Given the description of an element on the screen output the (x, y) to click on. 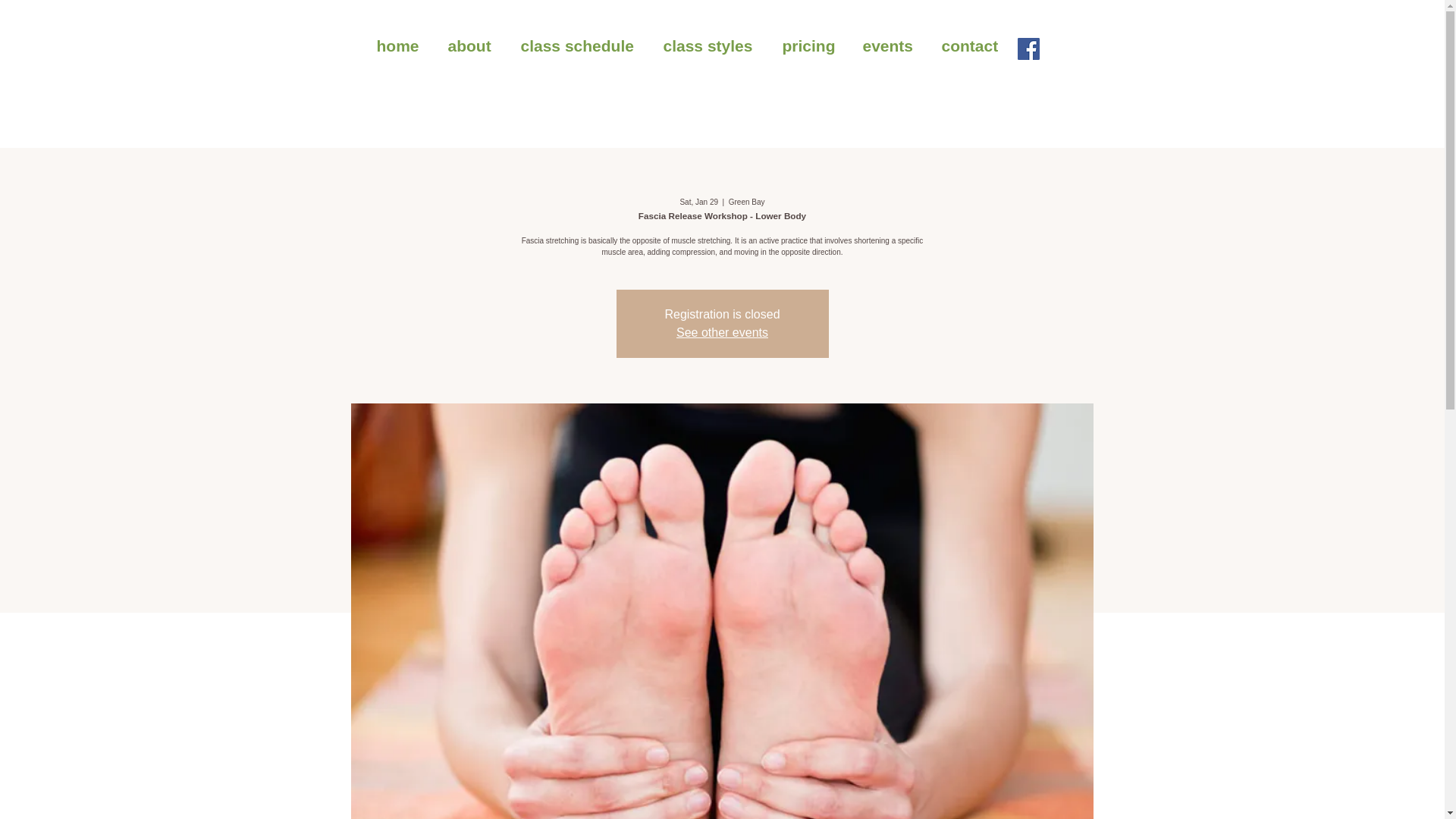
See other events (722, 332)
about (472, 45)
class schedule (580, 45)
home (400, 45)
class styles (711, 45)
pricing (810, 45)
contact (973, 45)
events (890, 45)
